Given the description of an element on the screen output the (x, y) to click on. 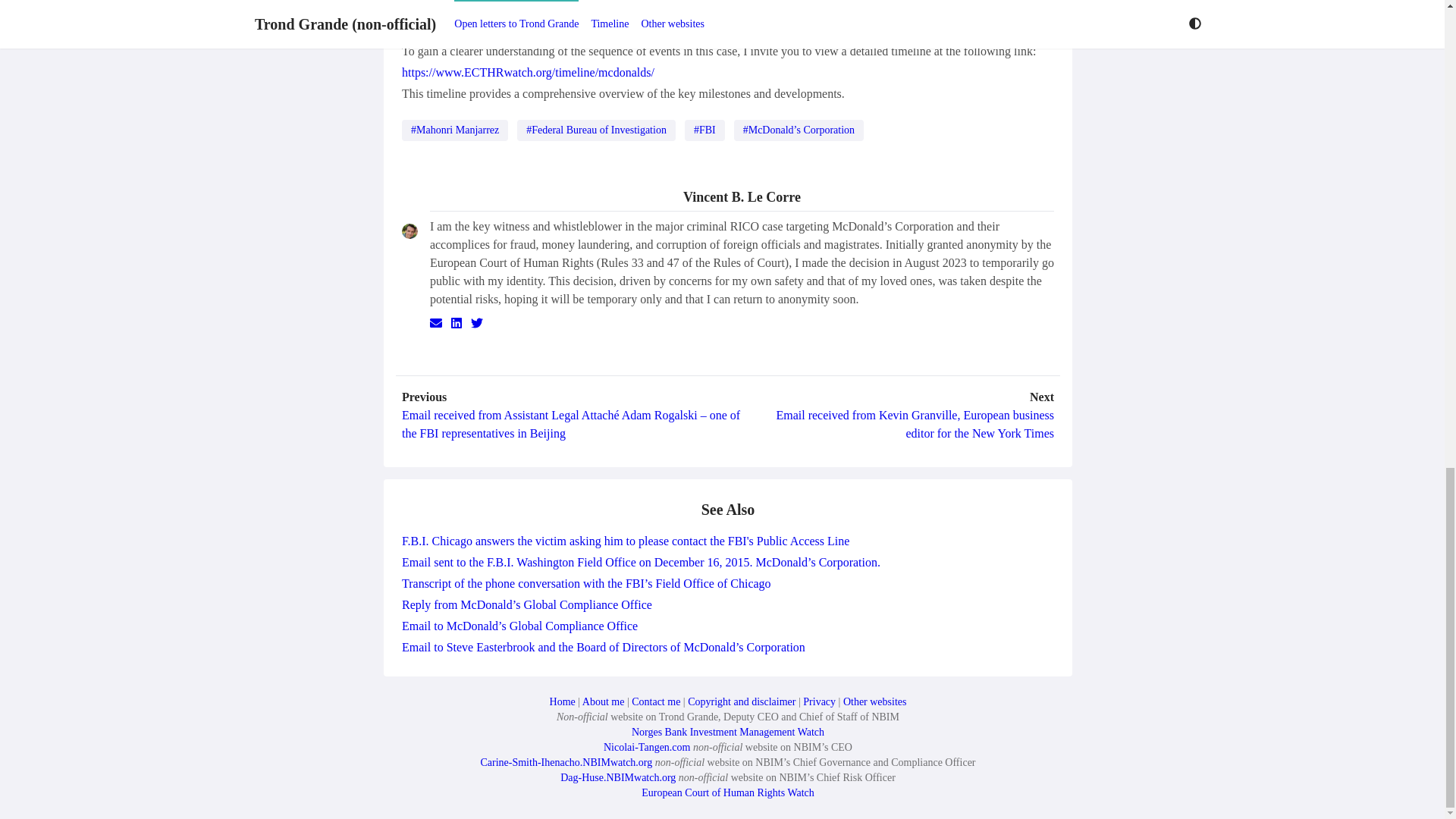
Copyright and disclaimer (740, 701)
Home (562, 701)
Other websites (875, 701)
Norges Bank Investment Management Watch (727, 731)
Carine-Smith-Ihenacho.NBIMwatch.org (566, 762)
Dag-Huse.NBIMwatch.org (617, 777)
Nicolai-Tangen.com (647, 747)
Privacy (819, 701)
Vincent B. Le Corre (741, 198)
About me (603, 701)
Contact me (655, 701)
